Given the description of an element on the screen output the (x, y) to click on. 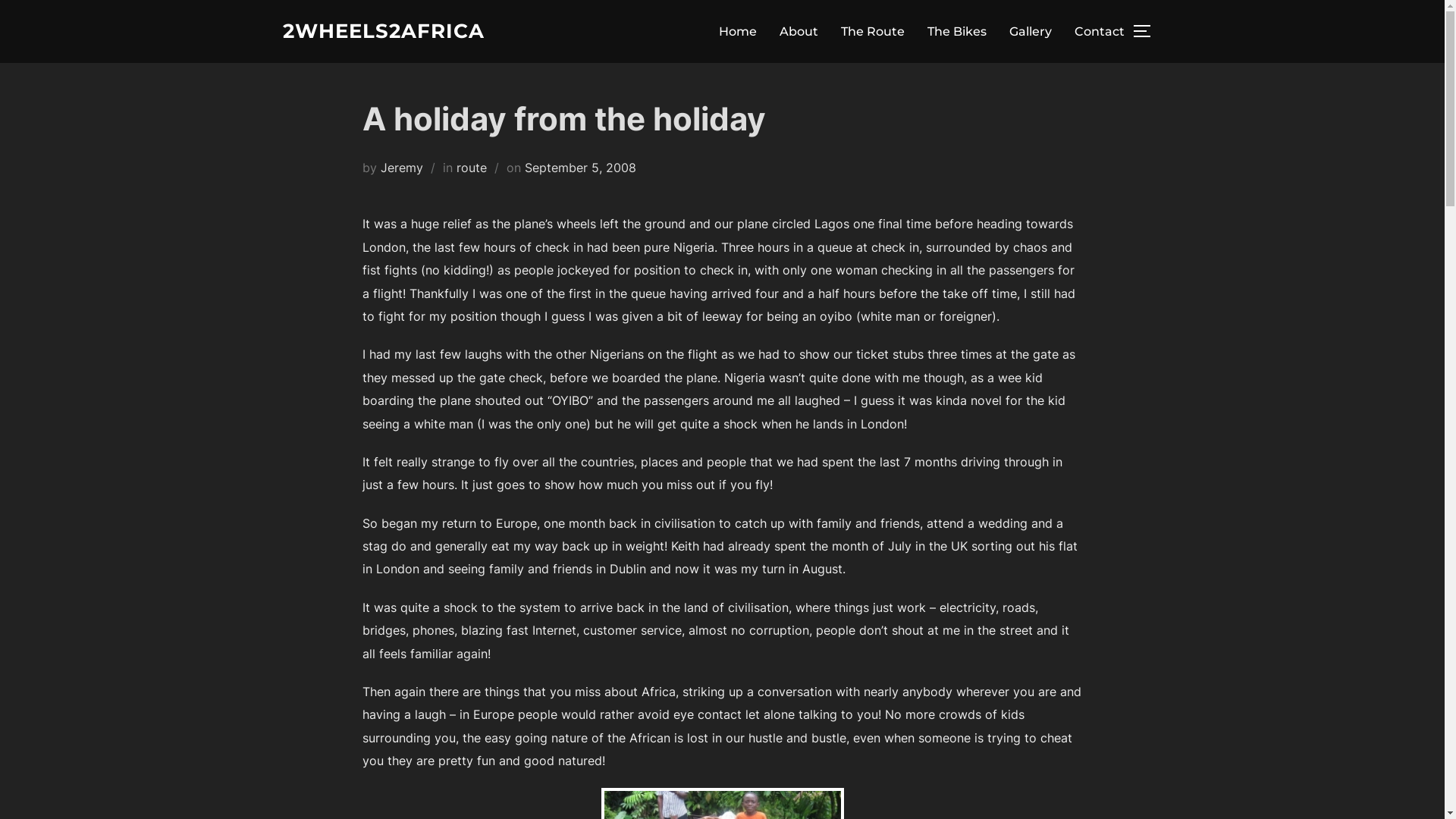
Home Element type: text (737, 30)
Contact Element type: text (1098, 30)
About Element type: text (798, 30)
2WHEELS2AFRICA Element type: text (382, 31)
Gallery Element type: text (1029, 30)
The Bikes Element type: text (955, 30)
TOGGLE SIDEBAR & NAVIGATION Element type: text (1146, 30)
The Route Element type: text (871, 30)
route Element type: text (471, 167)
Jeremy Element type: text (401, 167)
September 5, 2008 Element type: text (580, 167)
